Given the description of an element on the screen output the (x, y) to click on. 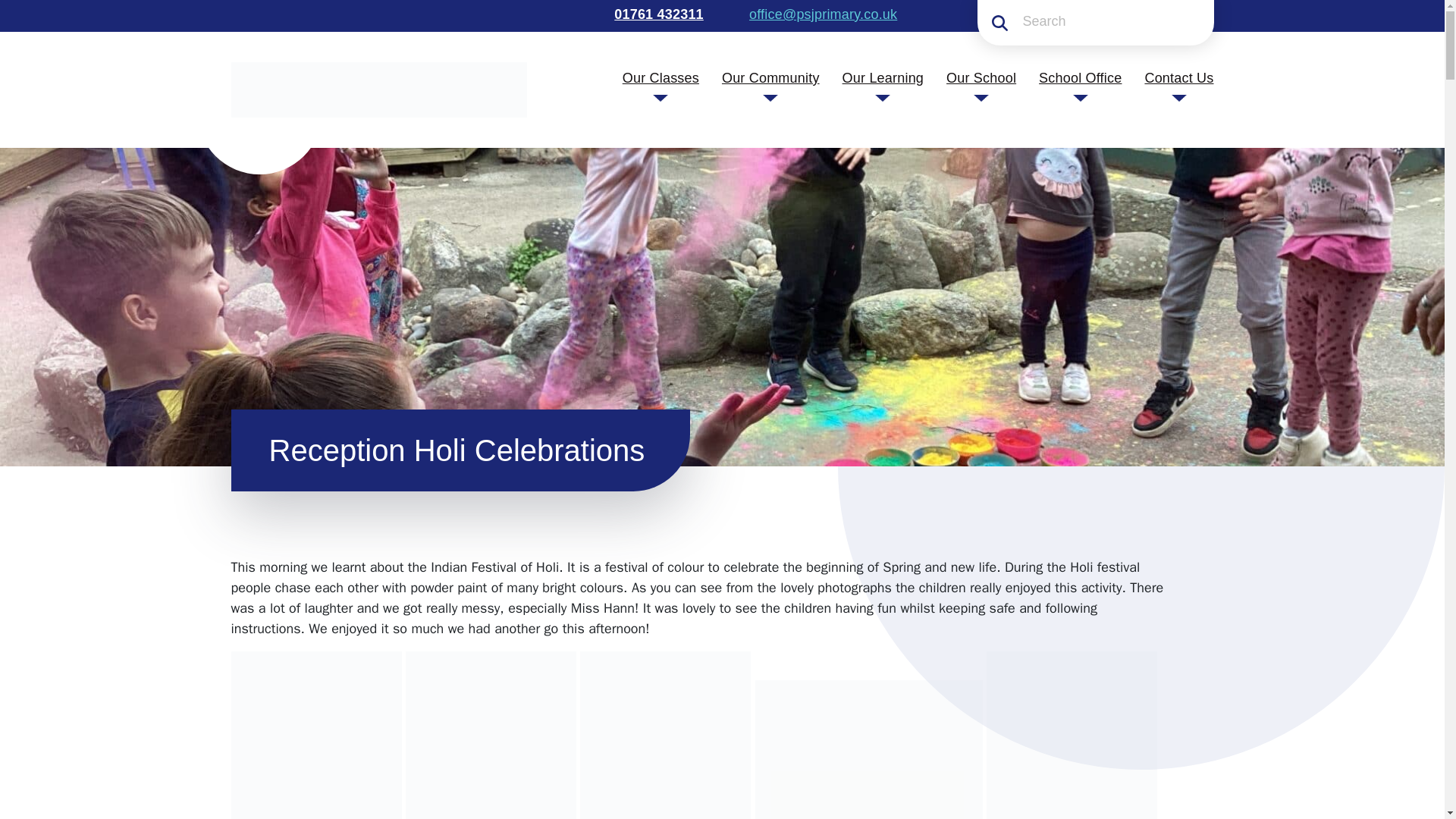
01761 432311 (656, 14)
Our School (981, 77)
Our Learning (883, 77)
Our Classes (660, 77)
Our Community (770, 77)
Our Community (770, 77)
Our Classes (660, 77)
